Given the description of an element on the screen output the (x, y) to click on. 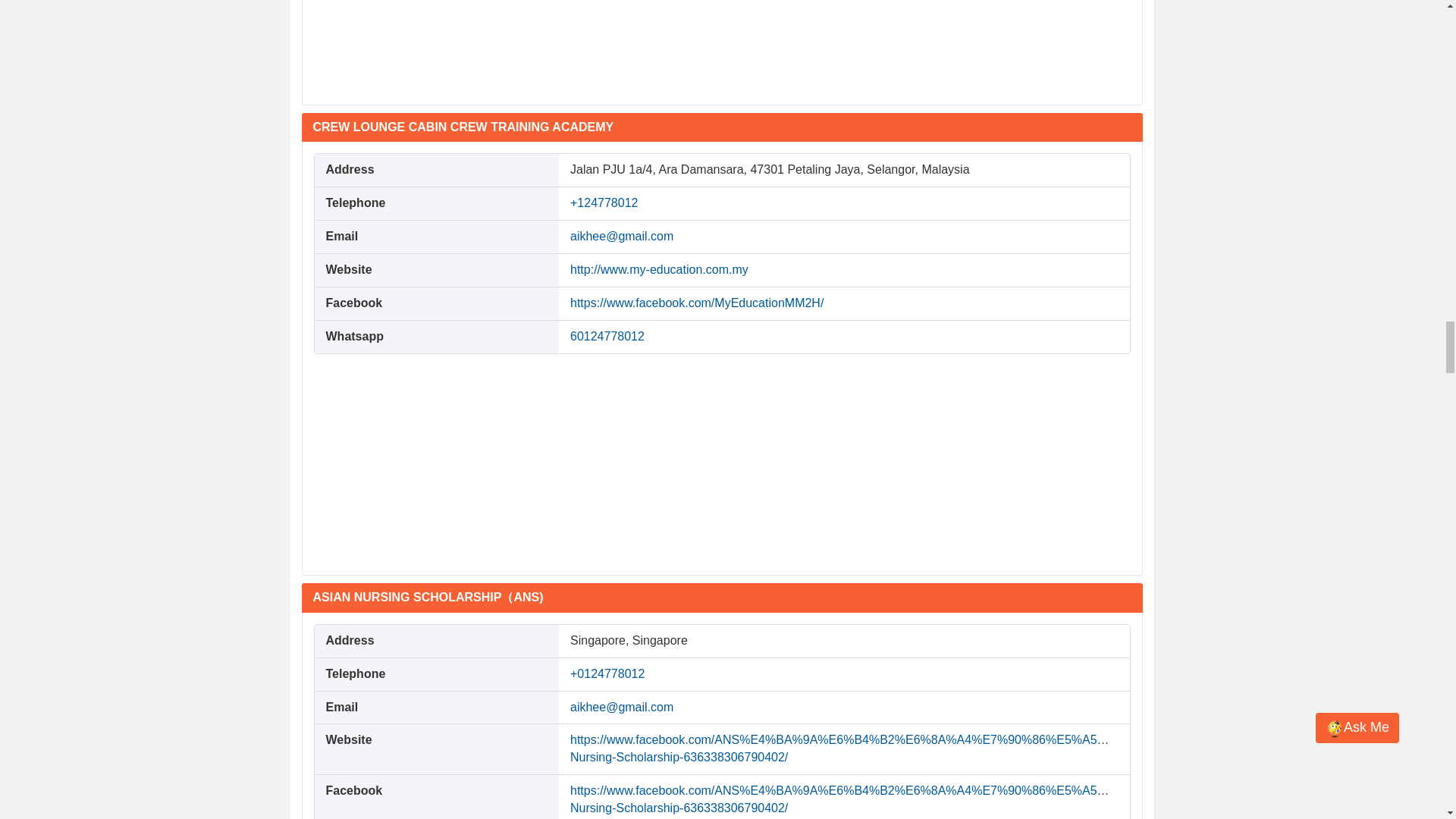
60124778012 (607, 336)
